Given the description of an element on the screen output the (x, y) to click on. 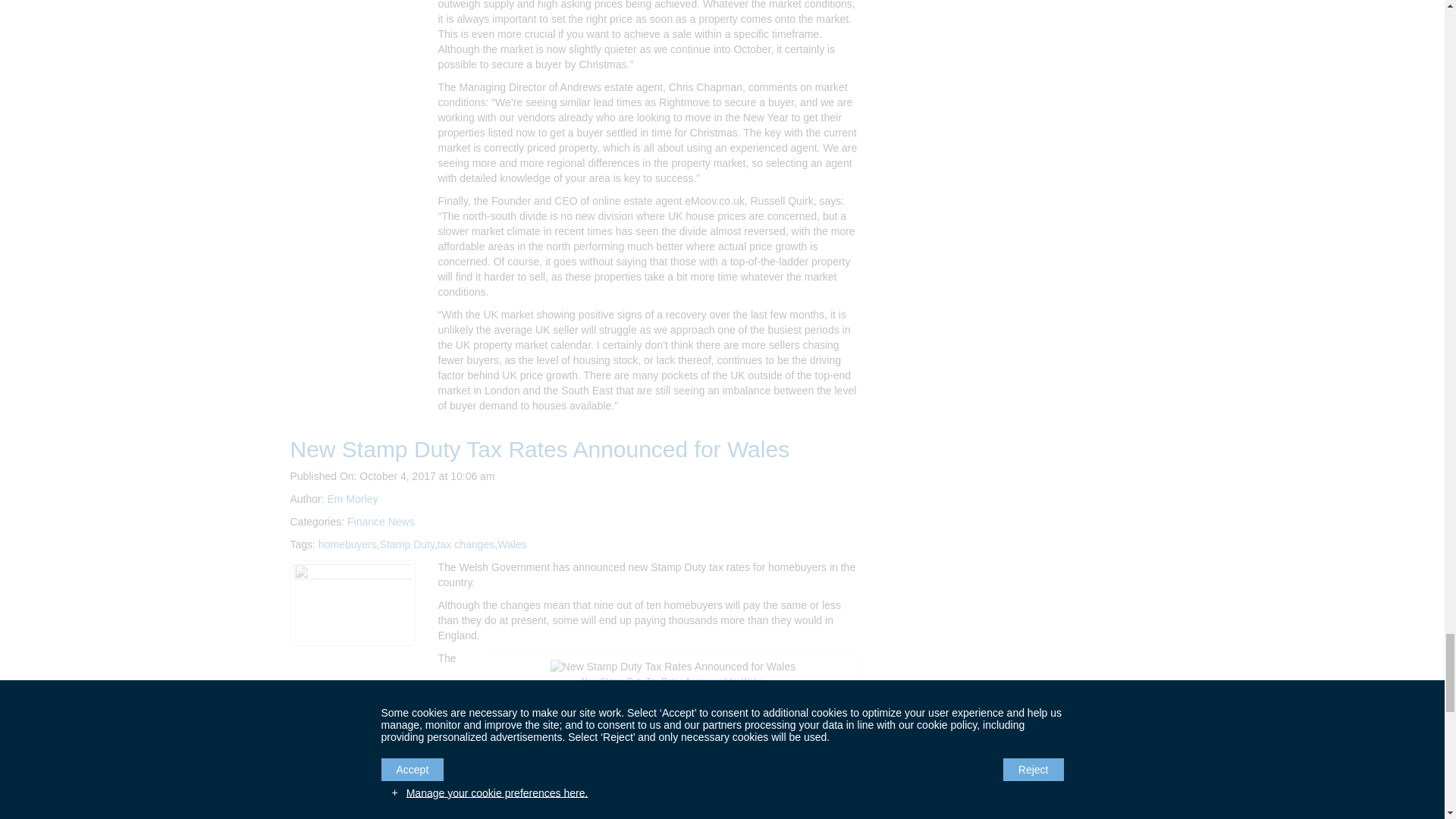
Posts by Em Morley (352, 499)
